Given the description of an element on the screen output the (x, y) to click on. 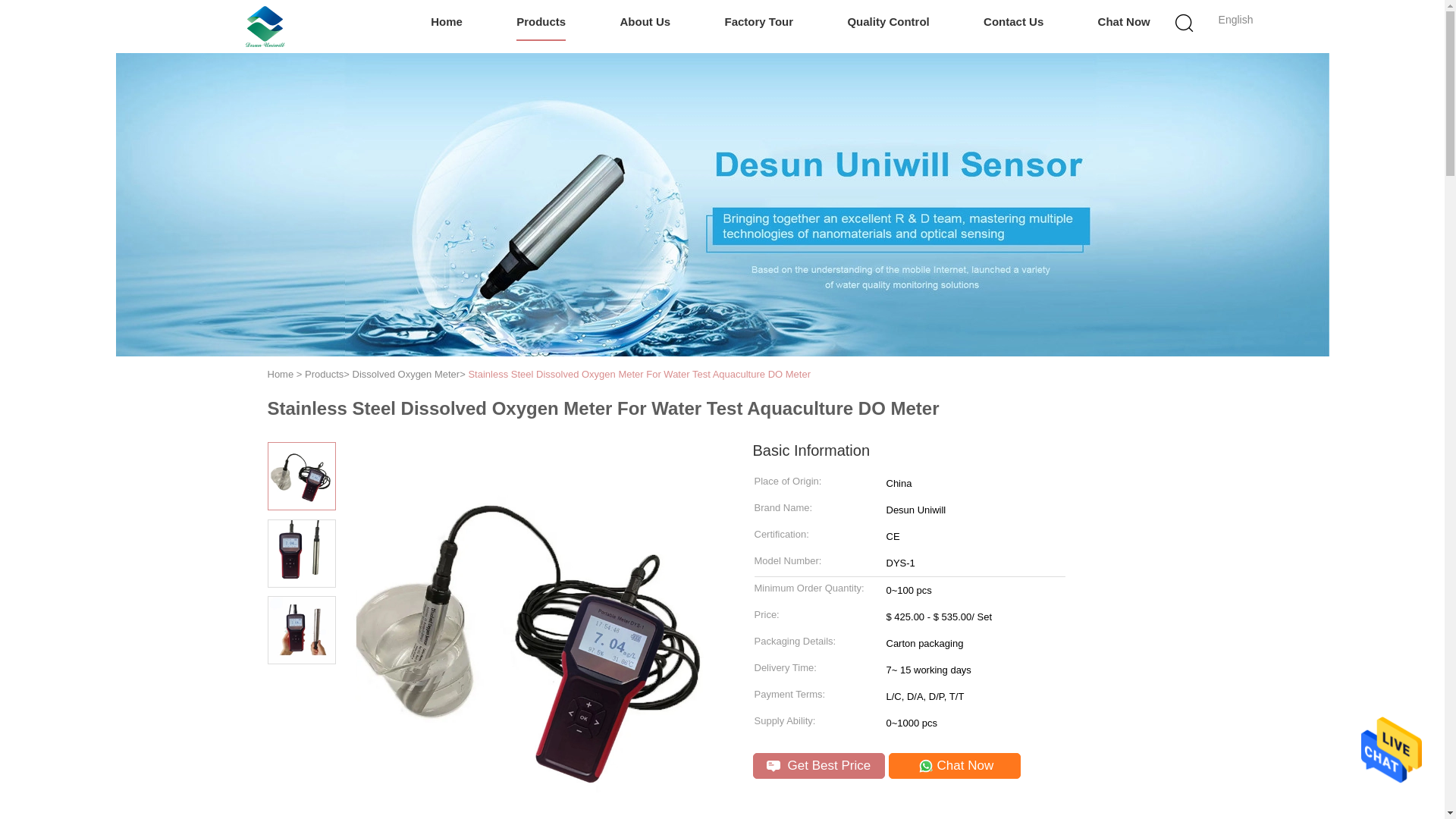
Contact Us (1013, 22)
Factory Tour (759, 22)
About Us (645, 22)
Quality Control (887, 22)
Chat Now (1123, 22)
Search (1044, 100)
Xi'an Desun Uniwill Electronic Technology Co., Ltd. (264, 25)
Products (541, 22)
